Given the description of an element on the screen output the (x, y) to click on. 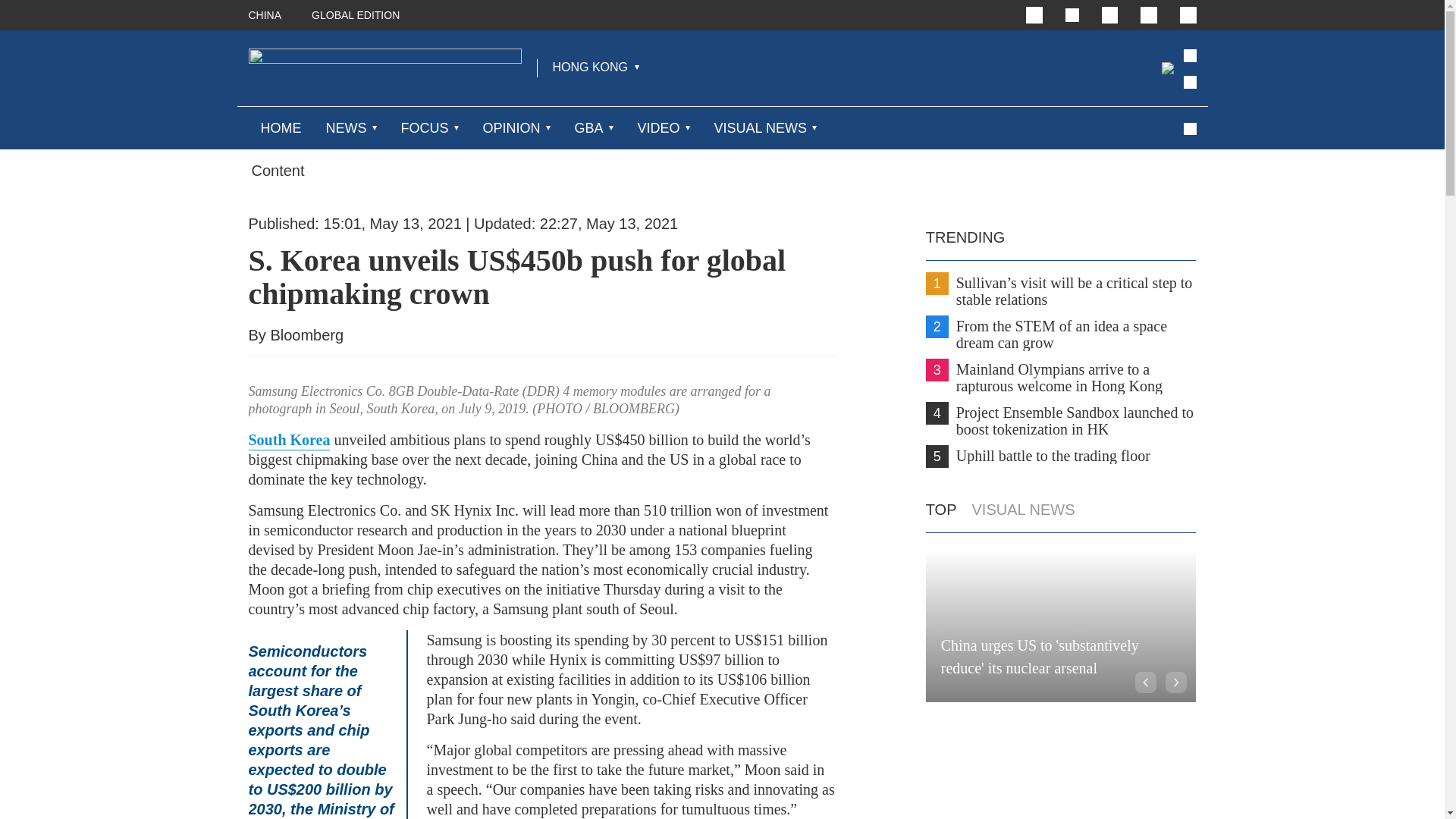
HOME (280, 127)
GLOBAL EDITION (354, 15)
OPINION (510, 127)
CHINA (265, 15)
GBA (589, 127)
